Given the description of an element on the screen output the (x, y) to click on. 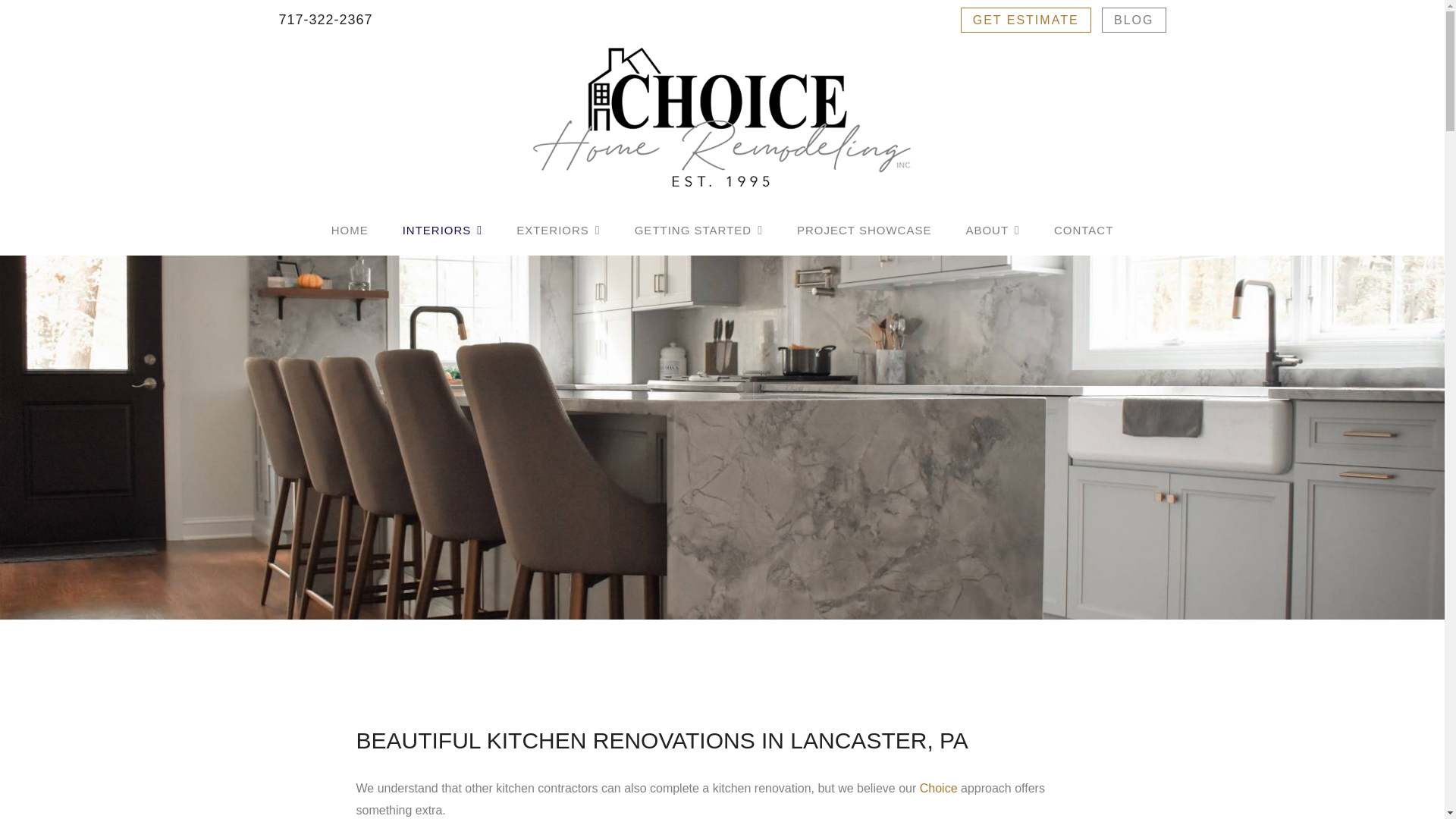
BLOG (1134, 19)
INTERIORS (443, 230)
EXTERIORS (557, 230)
717-322-2367 (325, 19)
GETTING STARTED (698, 230)
GET ESTIMATE (1025, 19)
HOME (349, 230)
